Given the description of an element on the screen output the (x, y) to click on. 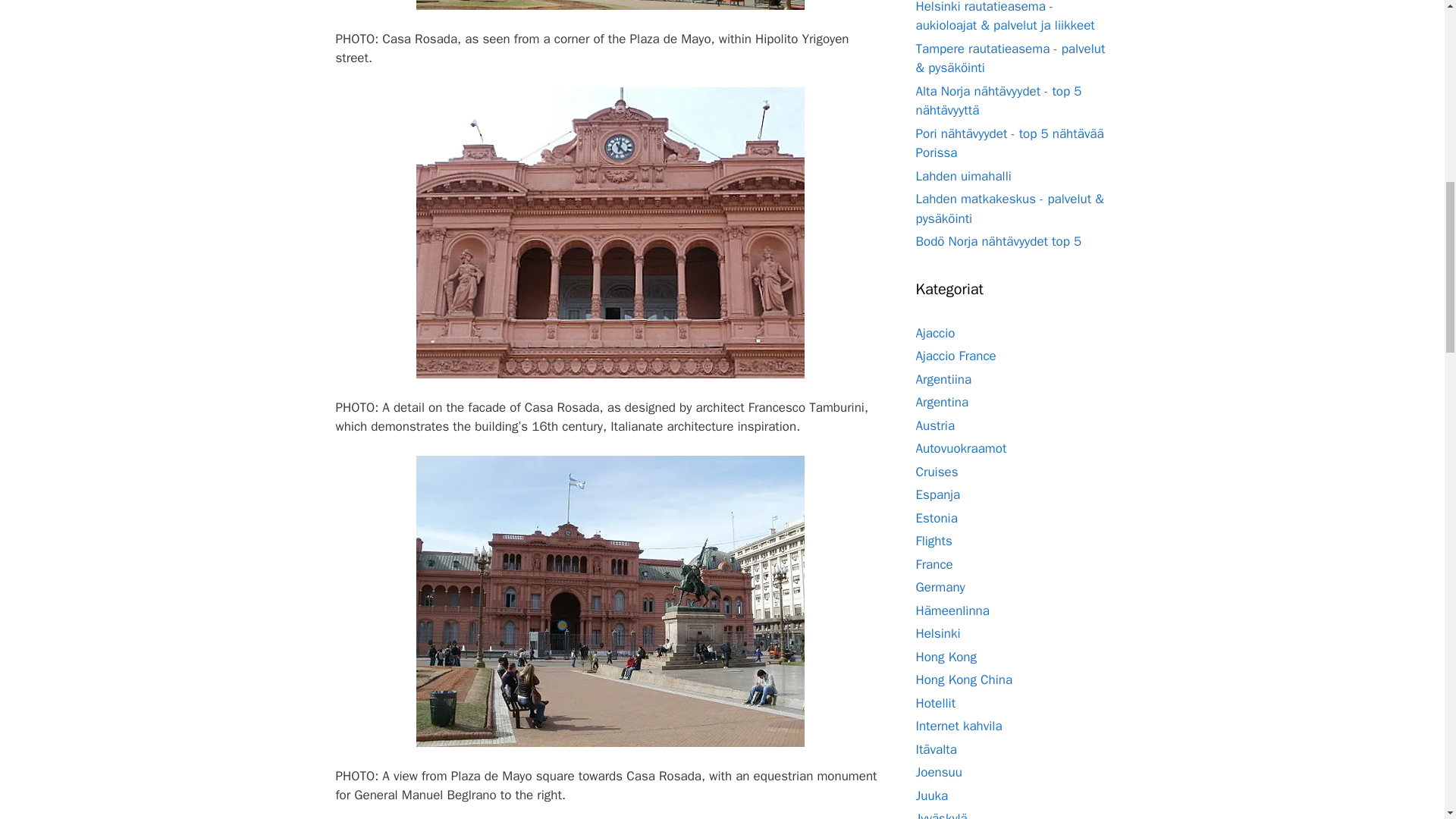
Autovuokraamot (961, 448)
Hong Kong (945, 657)
Internet kahvila (959, 725)
Estonia (936, 517)
Argentiina (943, 379)
Argentina (942, 401)
Lahden uimahalli (963, 176)
France (934, 564)
Ajaccio (935, 332)
Hotellit (935, 702)
Hong Kong China (964, 679)
Austria (935, 424)
Helsinki (937, 633)
Cruises (936, 471)
Germany (940, 587)
